Given the description of an element on the screen output the (x, y) to click on. 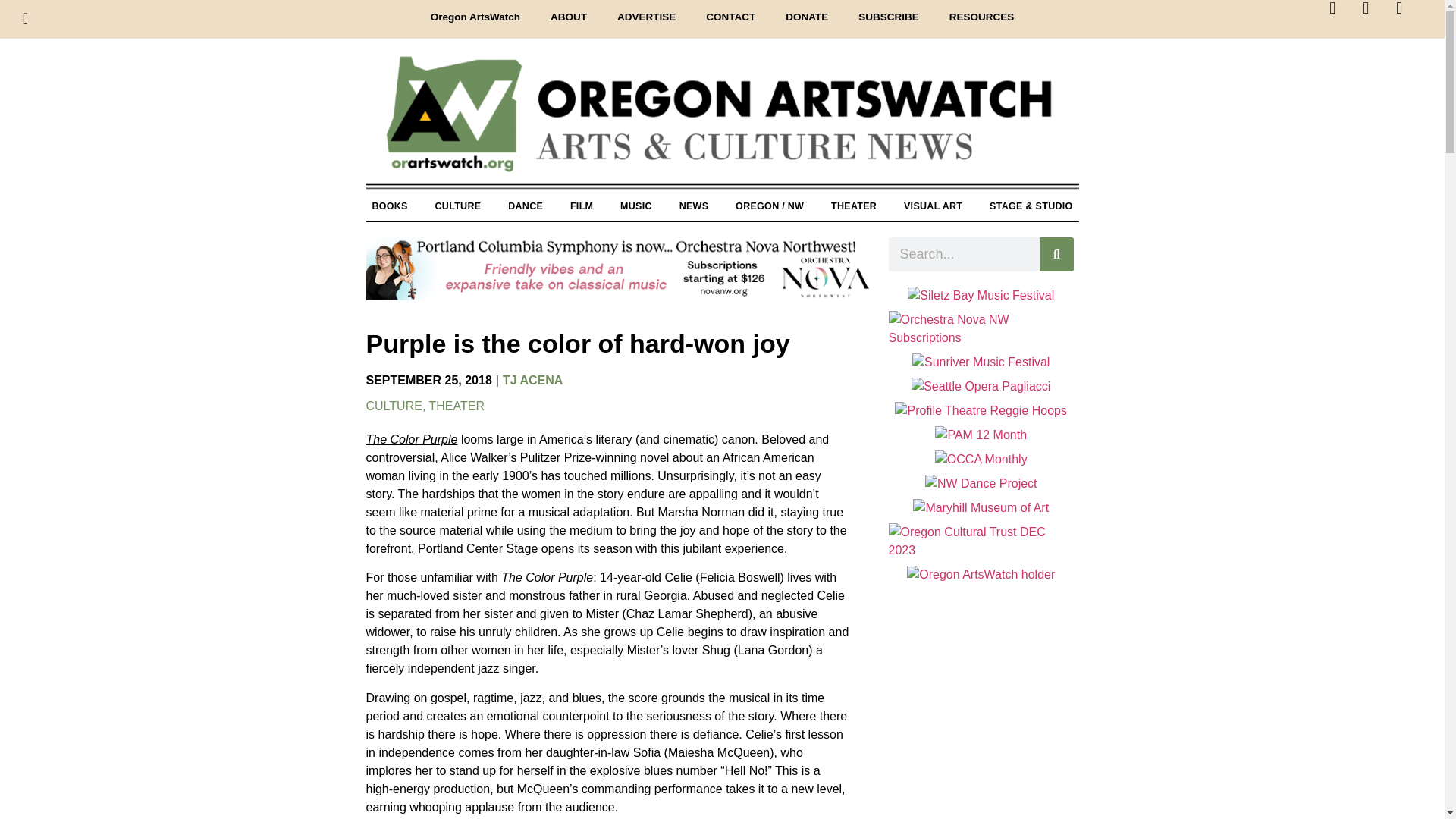
DONATE (806, 17)
Oregon ArtsWatch (474, 17)
RESOURCES (981, 17)
ABOUT (568, 17)
CULTURE (458, 205)
SUBSCRIBE (888, 17)
ADVERTISE (646, 17)
BOOKS (389, 205)
Oregon ArtsWatch (721, 122)
CONTACT (730, 17)
